Given the description of an element on the screen output the (x, y) to click on. 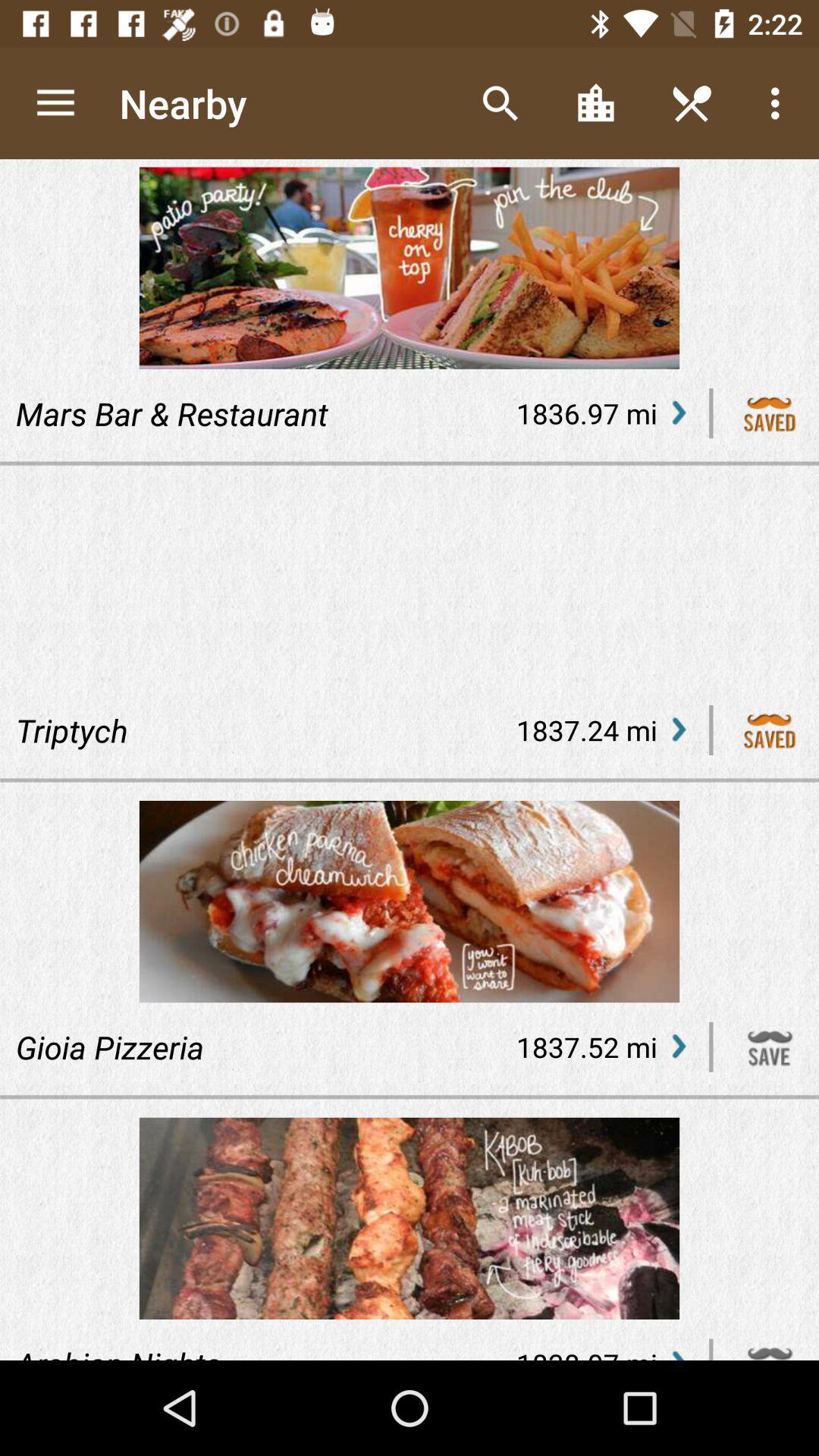
open the icon next to the nearby app (55, 103)
